Given the description of an element on the screen output the (x, y) to click on. 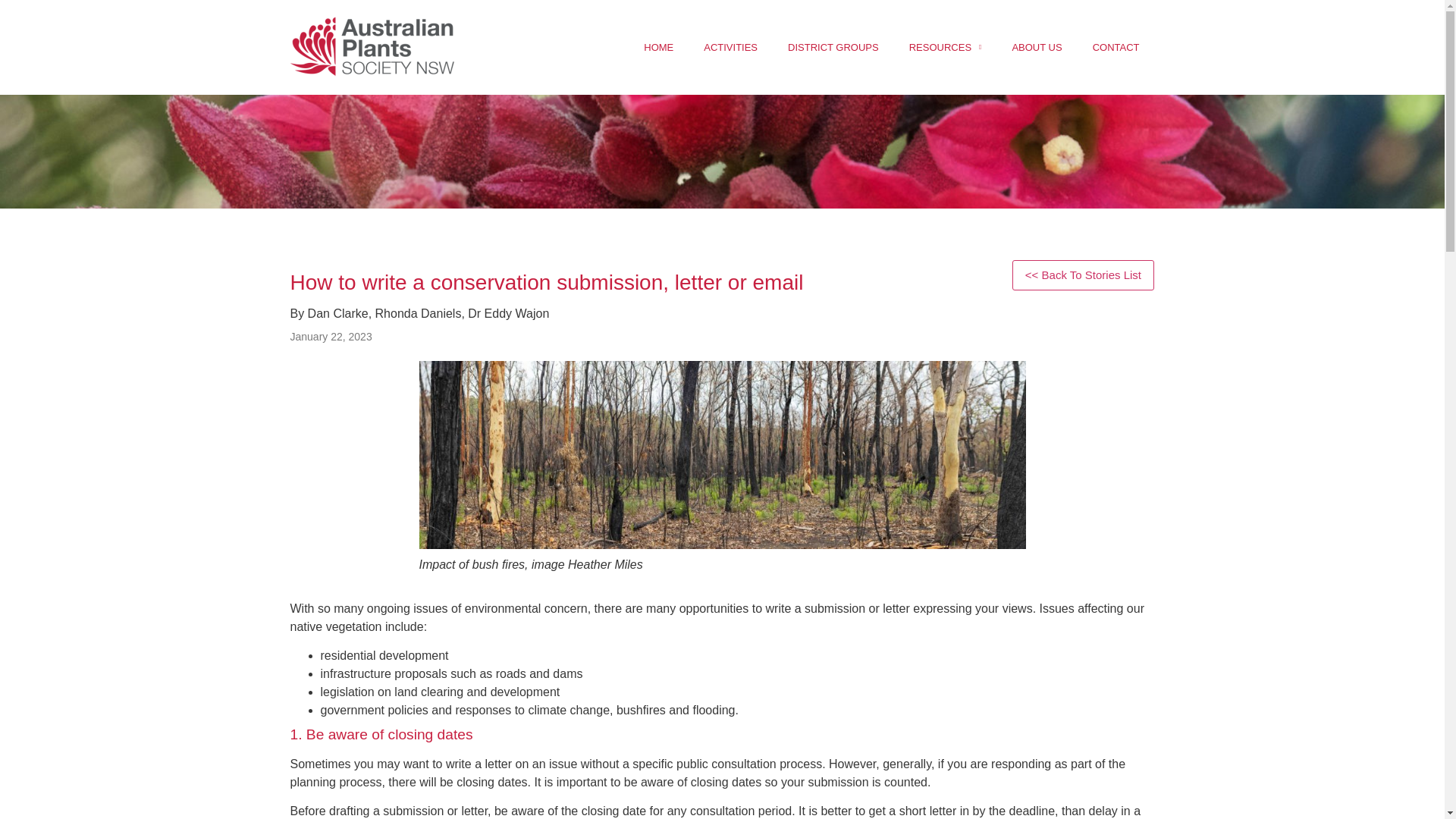
DISTRICT GROUPS (833, 47)
RESOURCES (945, 47)
ABOUT US (1036, 47)
HOME (658, 47)
CONTACT (1115, 47)
APS-sample-logo (370, 46)
ACTIVITIES (730, 47)
